Given the description of an element on the screen output the (x, y) to click on. 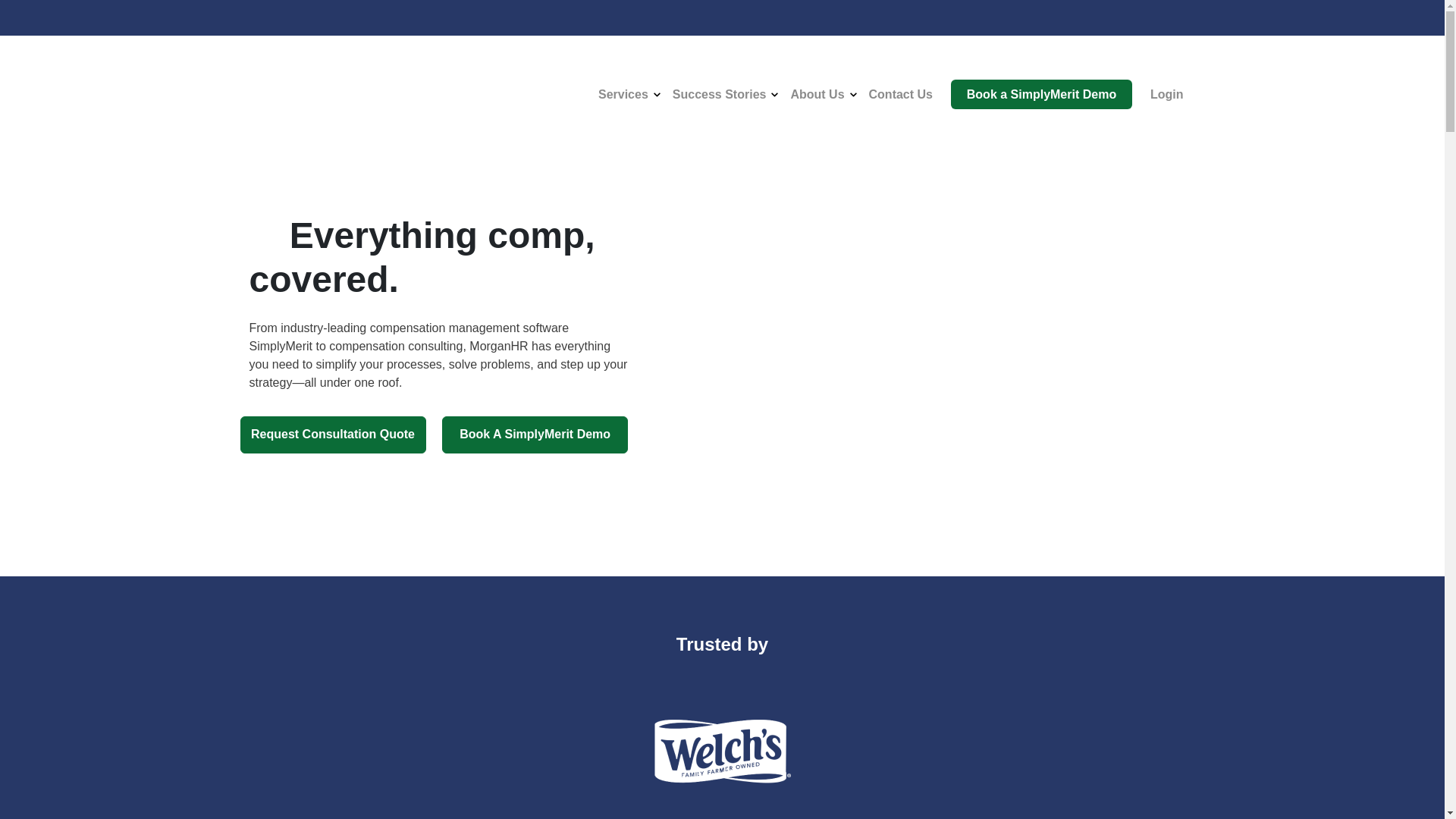
847.719.9060 (1159, 72)
Services (622, 94)
Contact Us (901, 93)
About Us (817, 94)
Book A SimplyMerit Demo (534, 434)
847.719.9060 (1159, 72)
Book a SimplyMerit Demo (1041, 93)
Request Consultation Quote (332, 434)
Success Stories (719, 94)
Login (1166, 93)
